Given the description of an element on the screen output the (x, y) to click on. 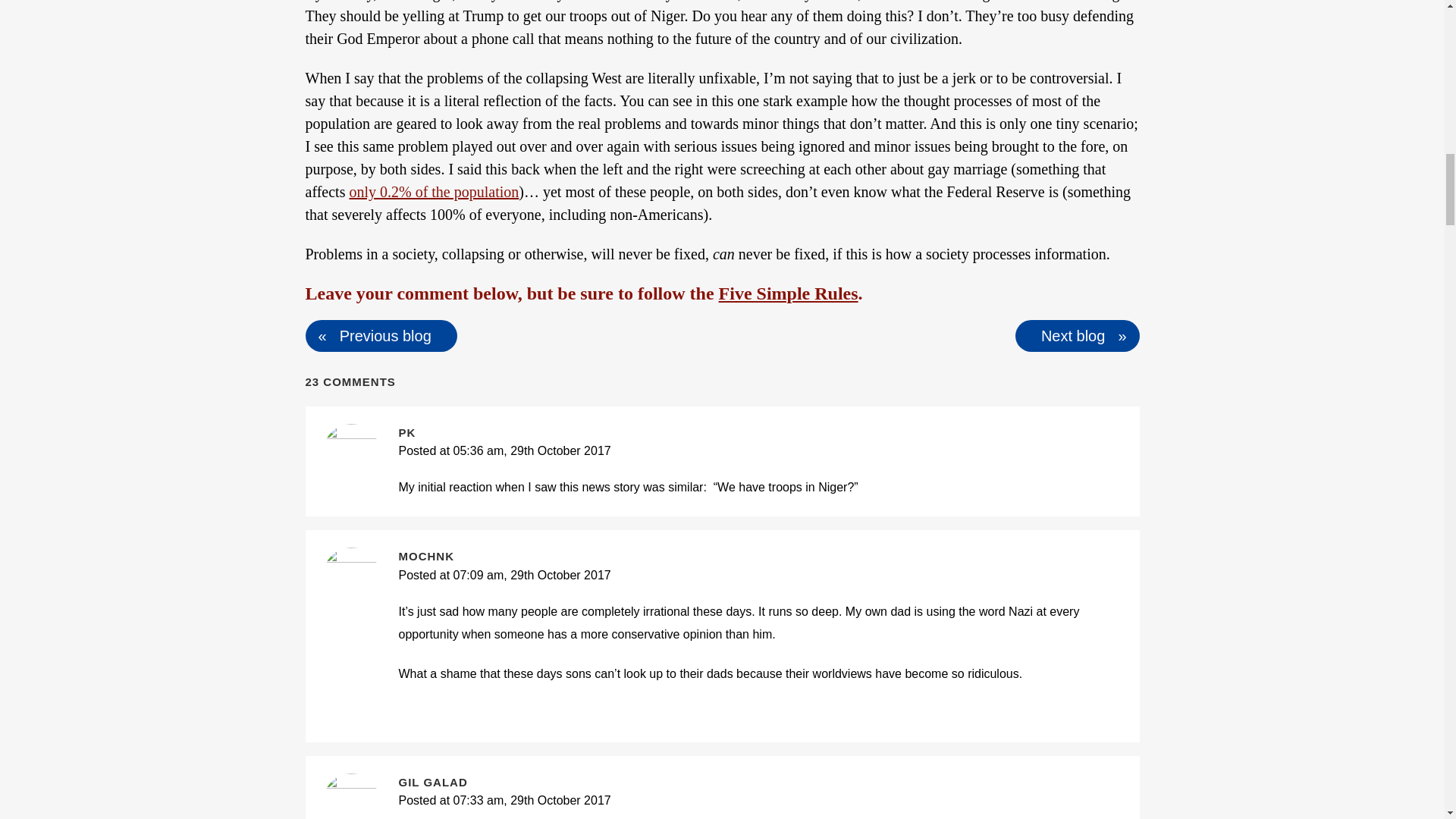
Next blog (1072, 335)
Five Simple Rules (789, 293)
Previous blog (385, 335)
